Given the description of an element on the screen output the (x, y) to click on. 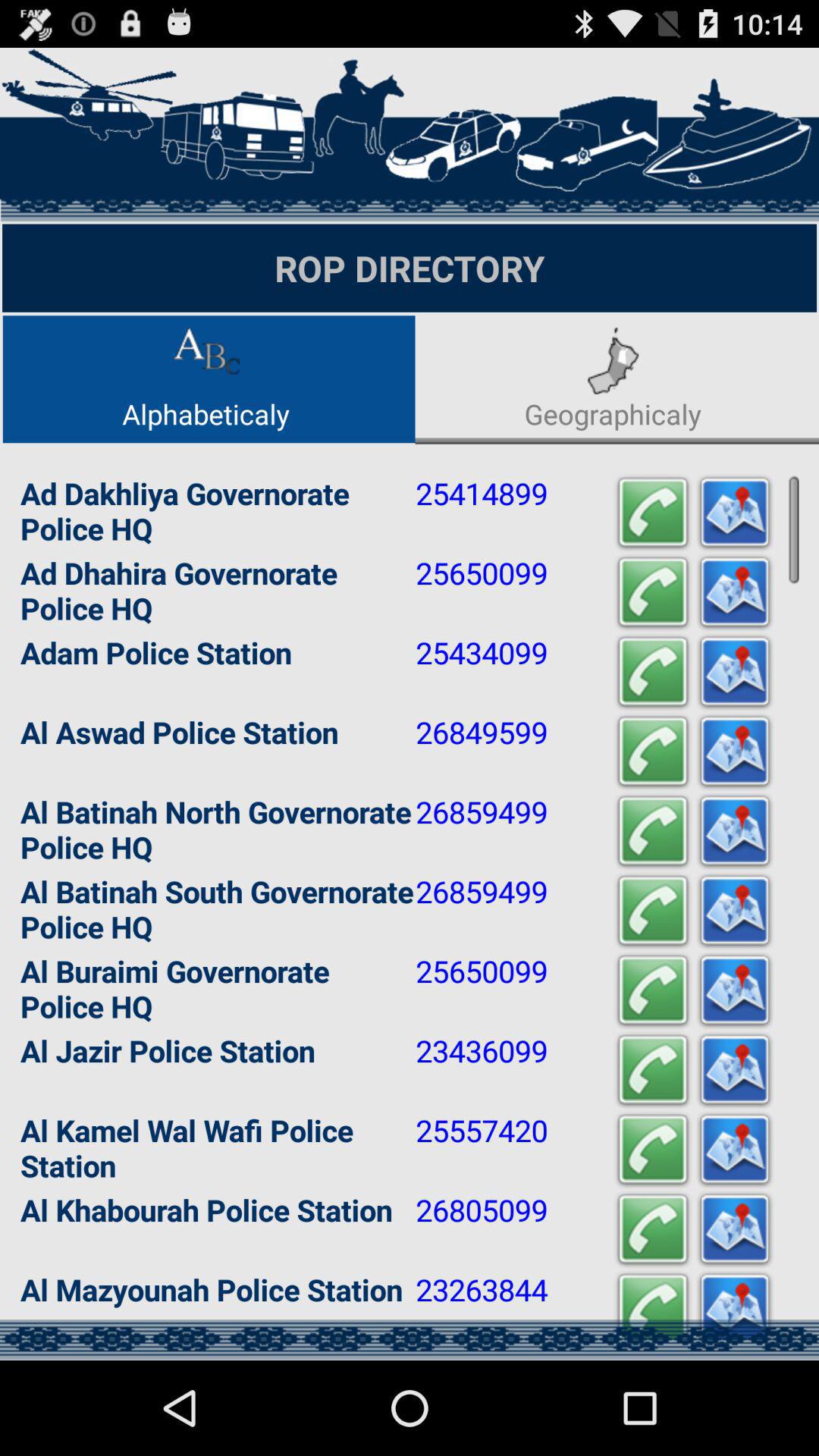
call number (652, 910)
